Given the description of an element on the screen output the (x, y) to click on. 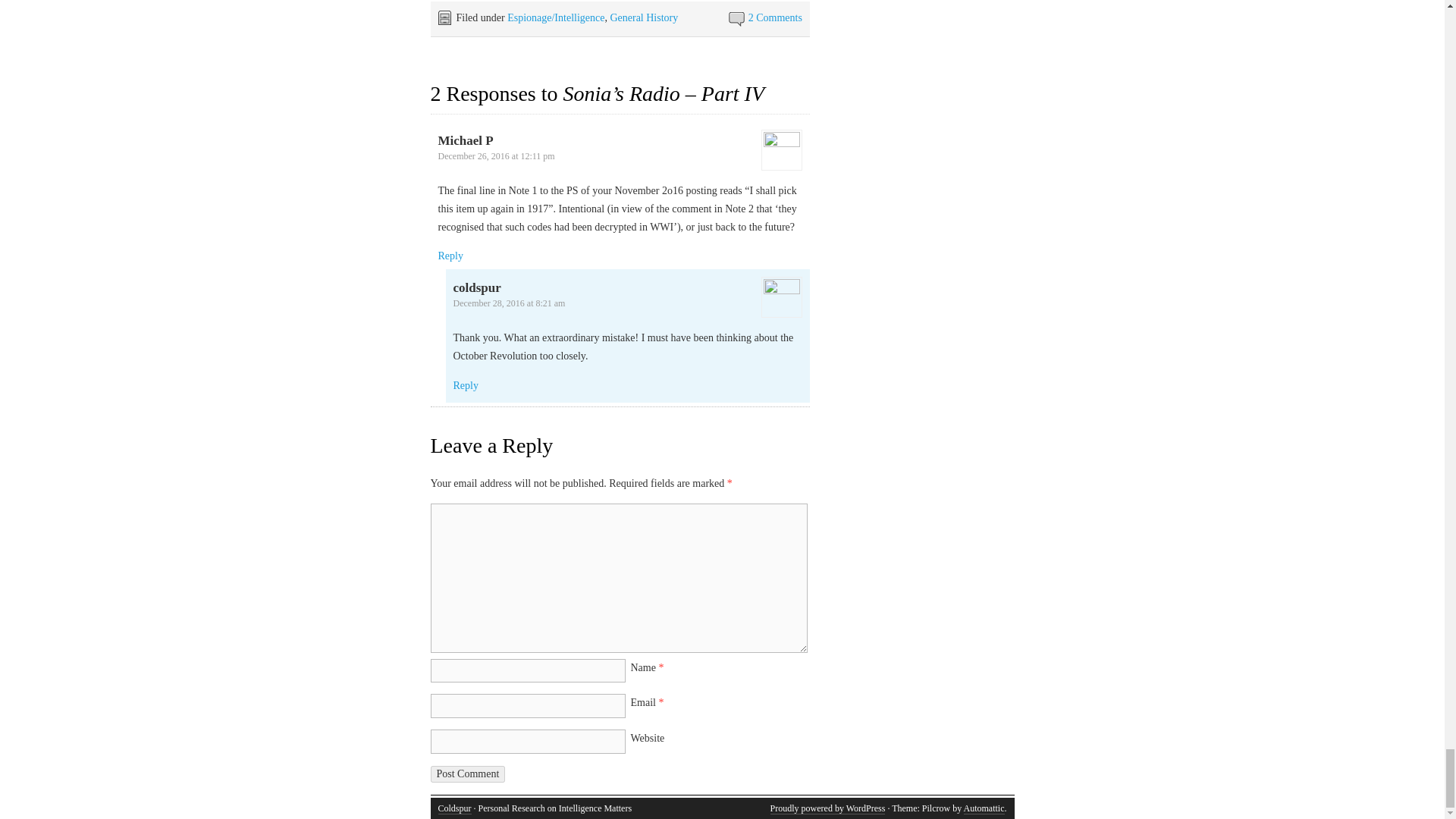
Post Comment (467, 773)
Reply (450, 255)
Coldspur (454, 808)
General History (644, 17)
December 28, 2016 at 8:21 am (509, 303)
December 26, 2016 at 12:11 pm (496, 155)
Reply (465, 385)
Post Comment (467, 773)
A Semantic Personal Publishing Platform (827, 808)
2 Comments (775, 17)
